Given the description of an element on the screen output the (x, y) to click on. 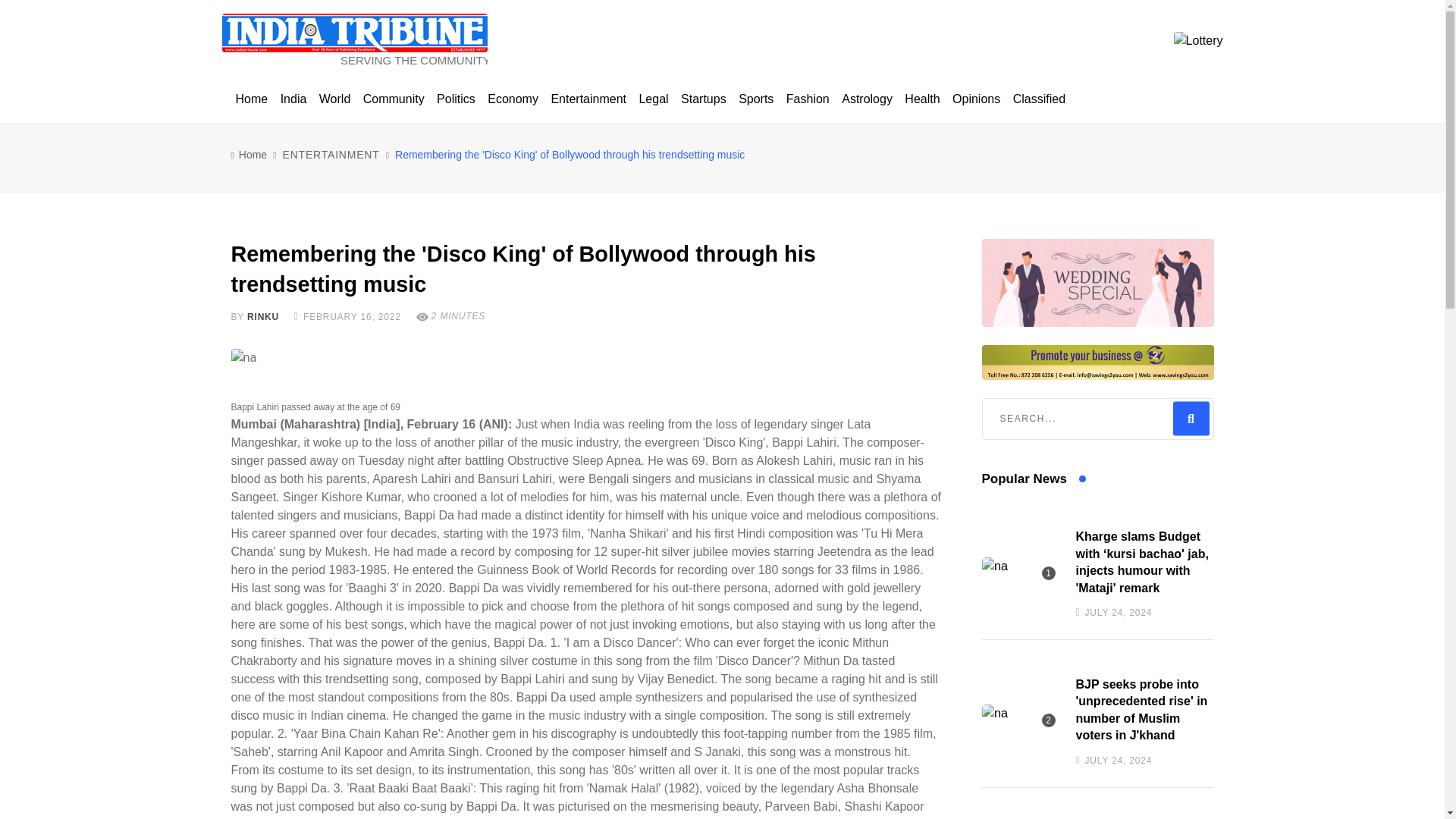
Home (251, 98)
Classified (1039, 98)
India (293, 98)
Community (393, 98)
Sports (755, 98)
Fashion (807, 98)
Economy (513, 98)
World (334, 98)
Opinions (975, 98)
Health (921, 98)
Legal (652, 98)
Astrology (866, 98)
Politics (456, 98)
Startups (703, 98)
Entertainment (588, 98)
